Given the description of an element on the screen output the (x, y) to click on. 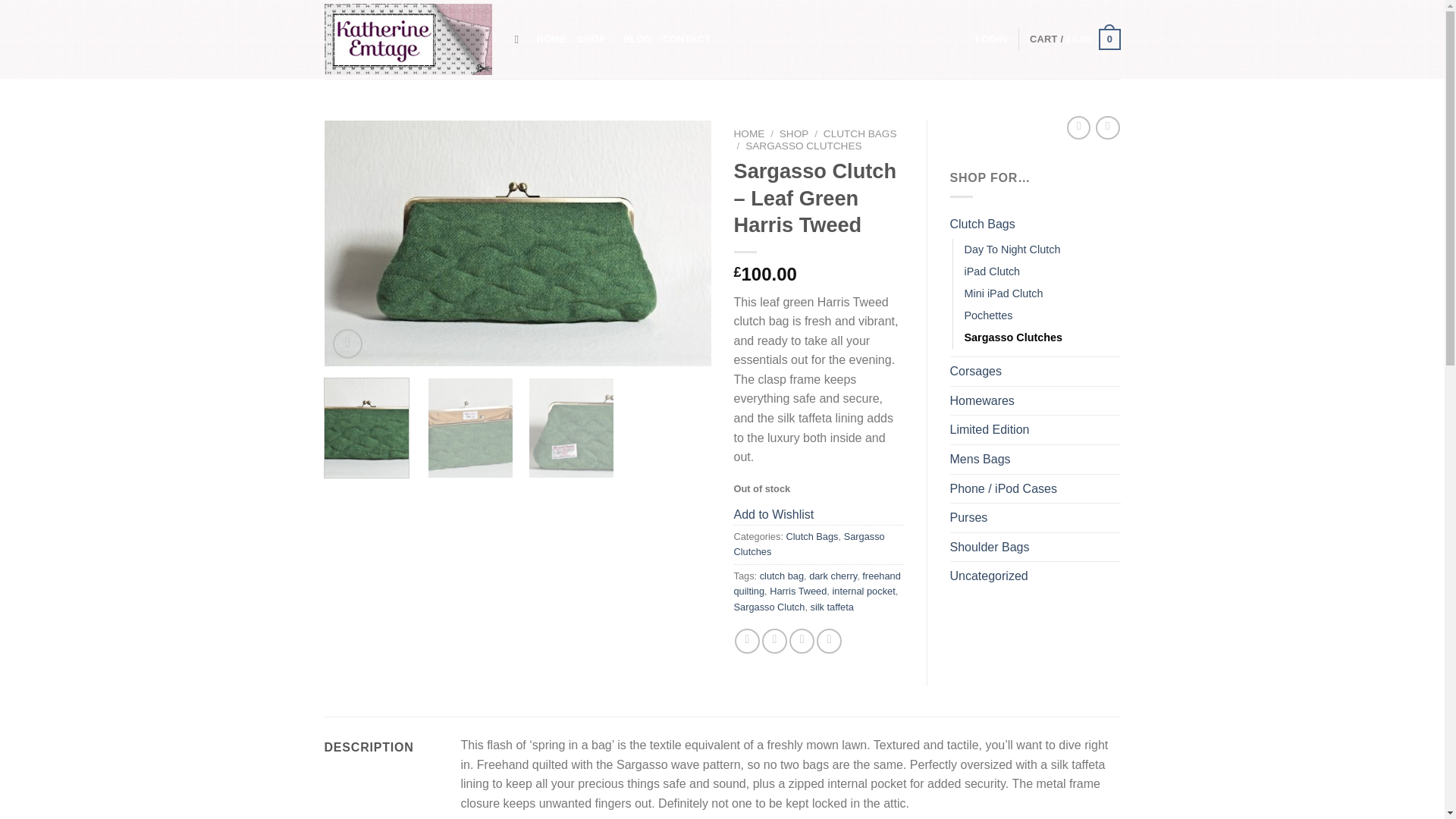
dark cherry (833, 575)
Add to Wishlist (773, 513)
Zoom (347, 343)
BLOG (637, 39)
SARGASSO CLUTCHES (803, 145)
Clutch Bags (812, 536)
HOME (551, 39)
SHOP (793, 133)
Pin on Pinterest (828, 640)
